Given the description of an element on the screen output the (x, y) to click on. 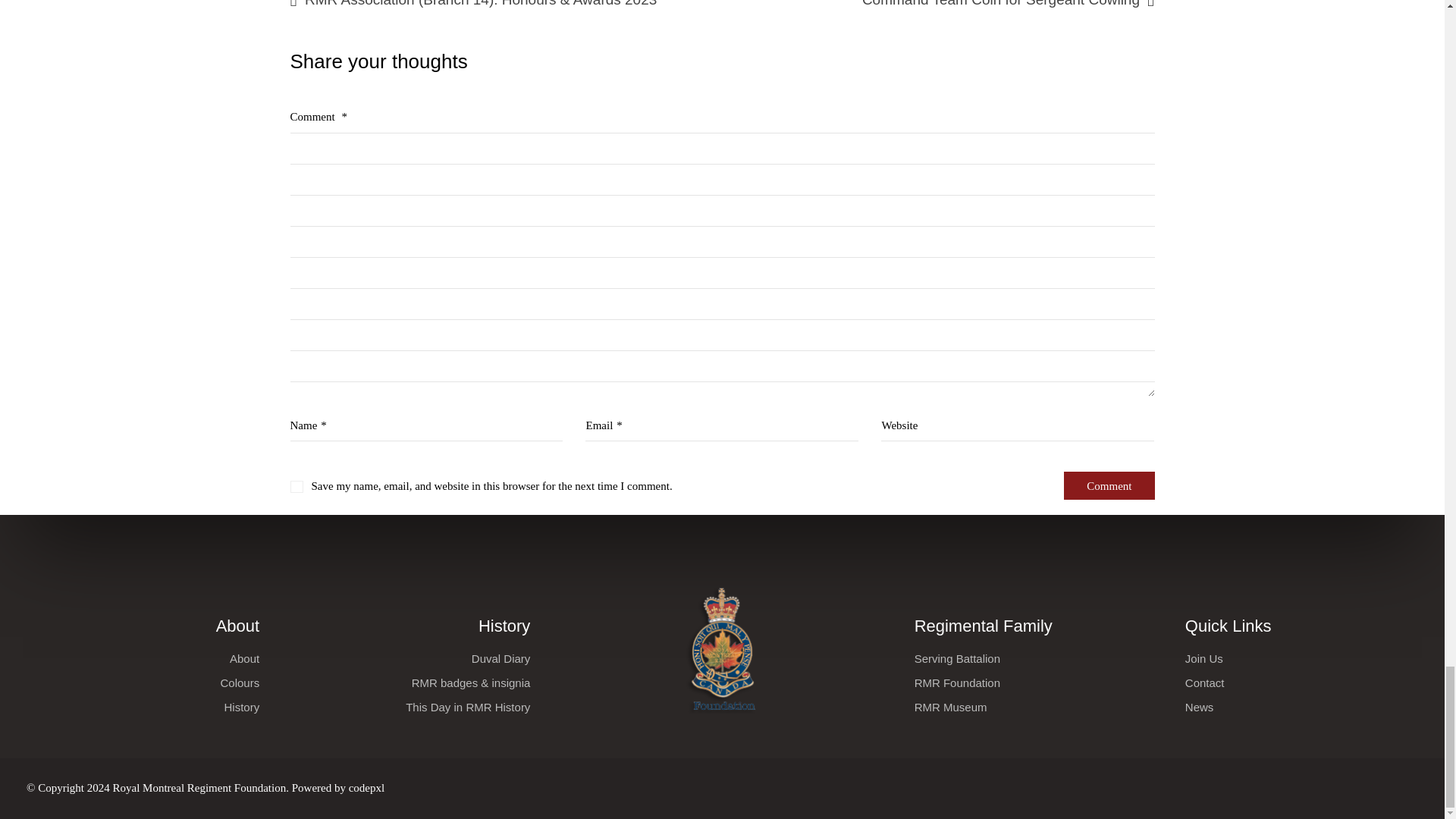
Comment (1109, 485)
yes (295, 486)
